Given the description of an element on the screen output the (x, y) to click on. 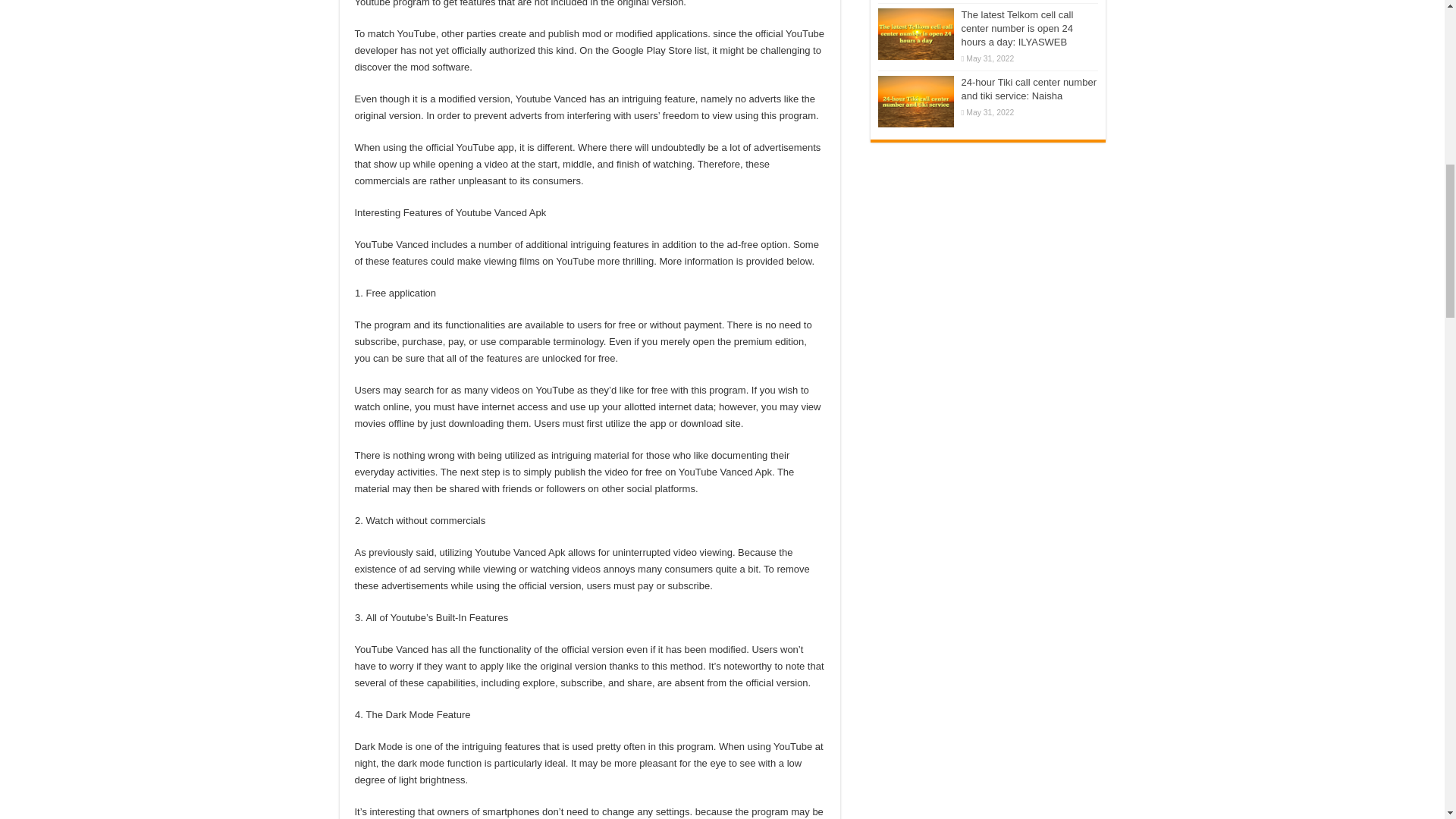
24-hour Tiki call center number and tiki service: Naisha (915, 101)
24-hour Tiki call center number and tiki service: Naisha (1028, 88)
